Given the description of an element on the screen output the (x, y) to click on. 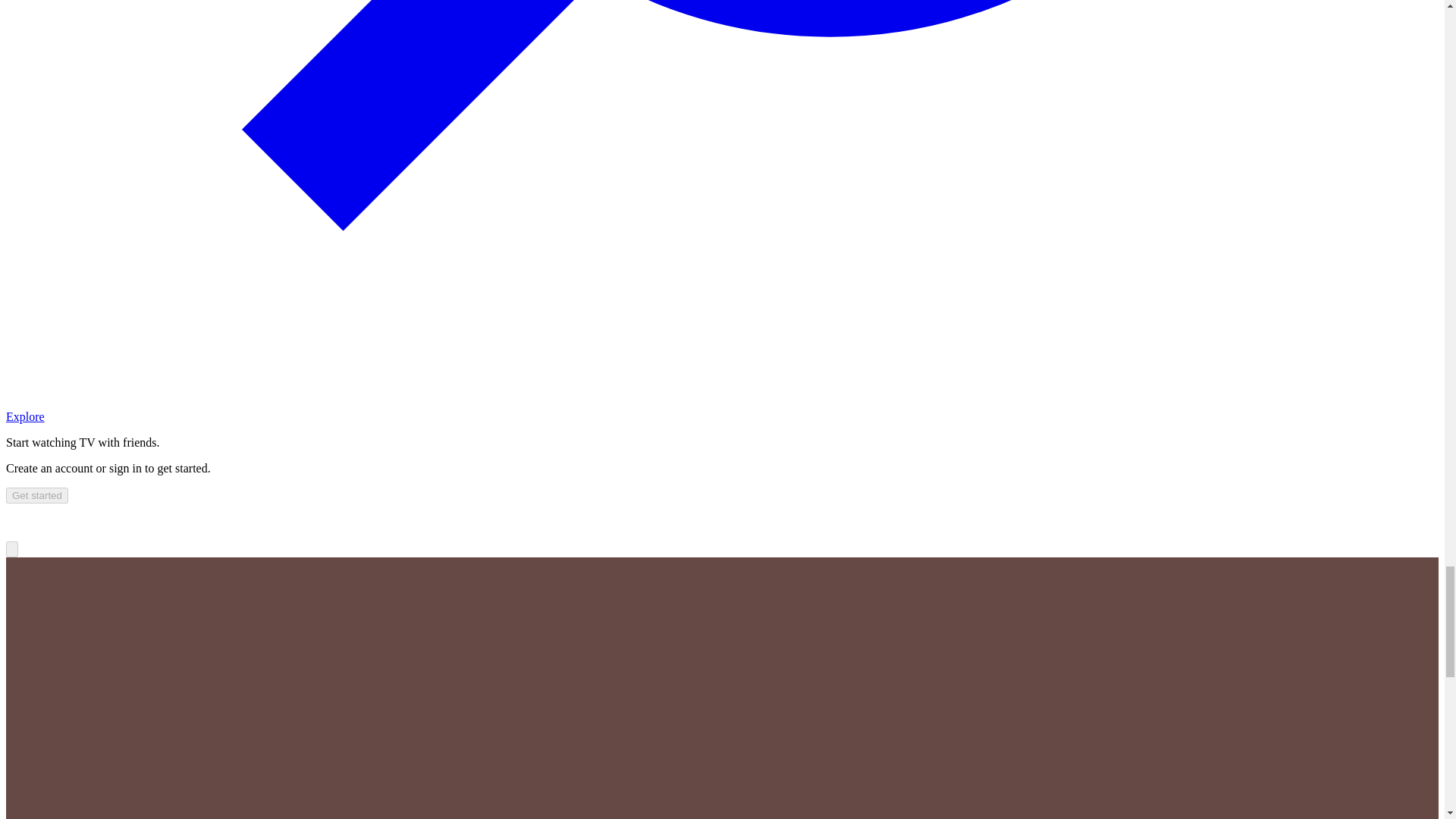
Get started (36, 495)
